Given the description of an element on the screen output the (x, y) to click on. 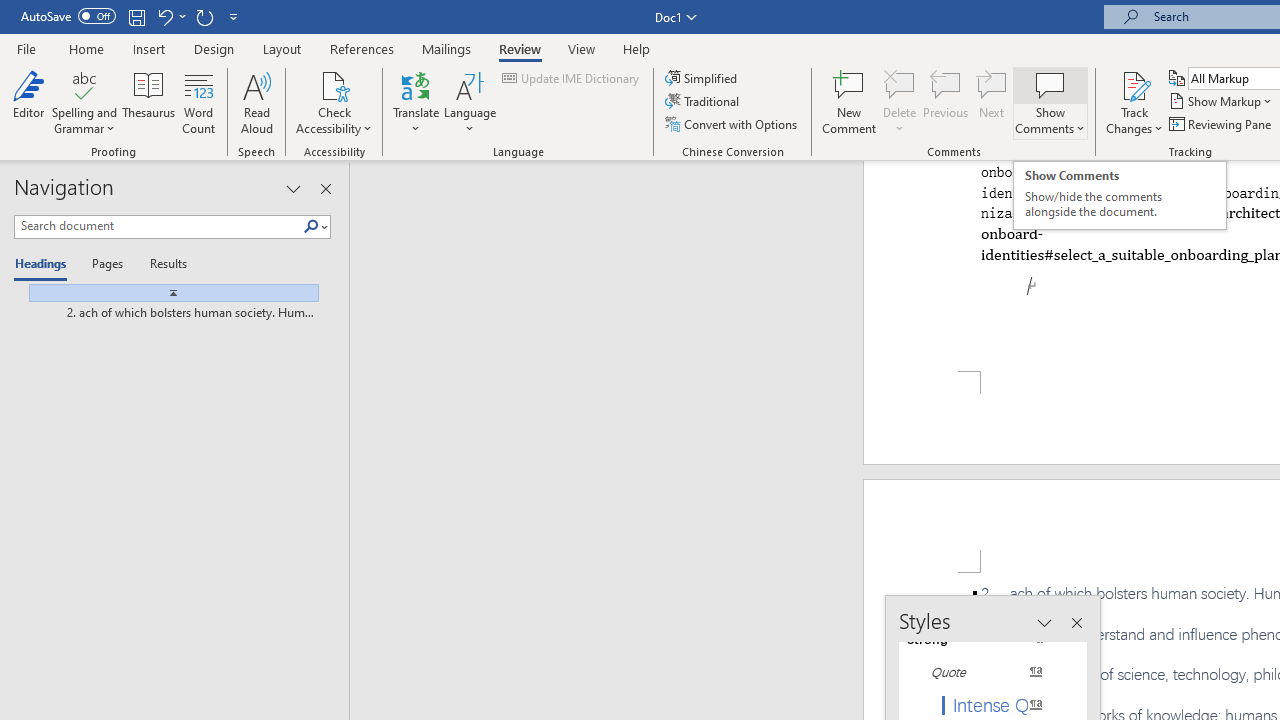
Check Accessibility (334, 102)
Update IME Dictionary... (572, 78)
Read Aloud (256, 102)
Delete (900, 84)
Word Count (198, 102)
Show Markup (1222, 101)
Show Comments (1050, 84)
Next (991, 102)
Delete (900, 102)
Show Comments (1050, 102)
